Given the description of an element on the screen output the (x, y) to click on. 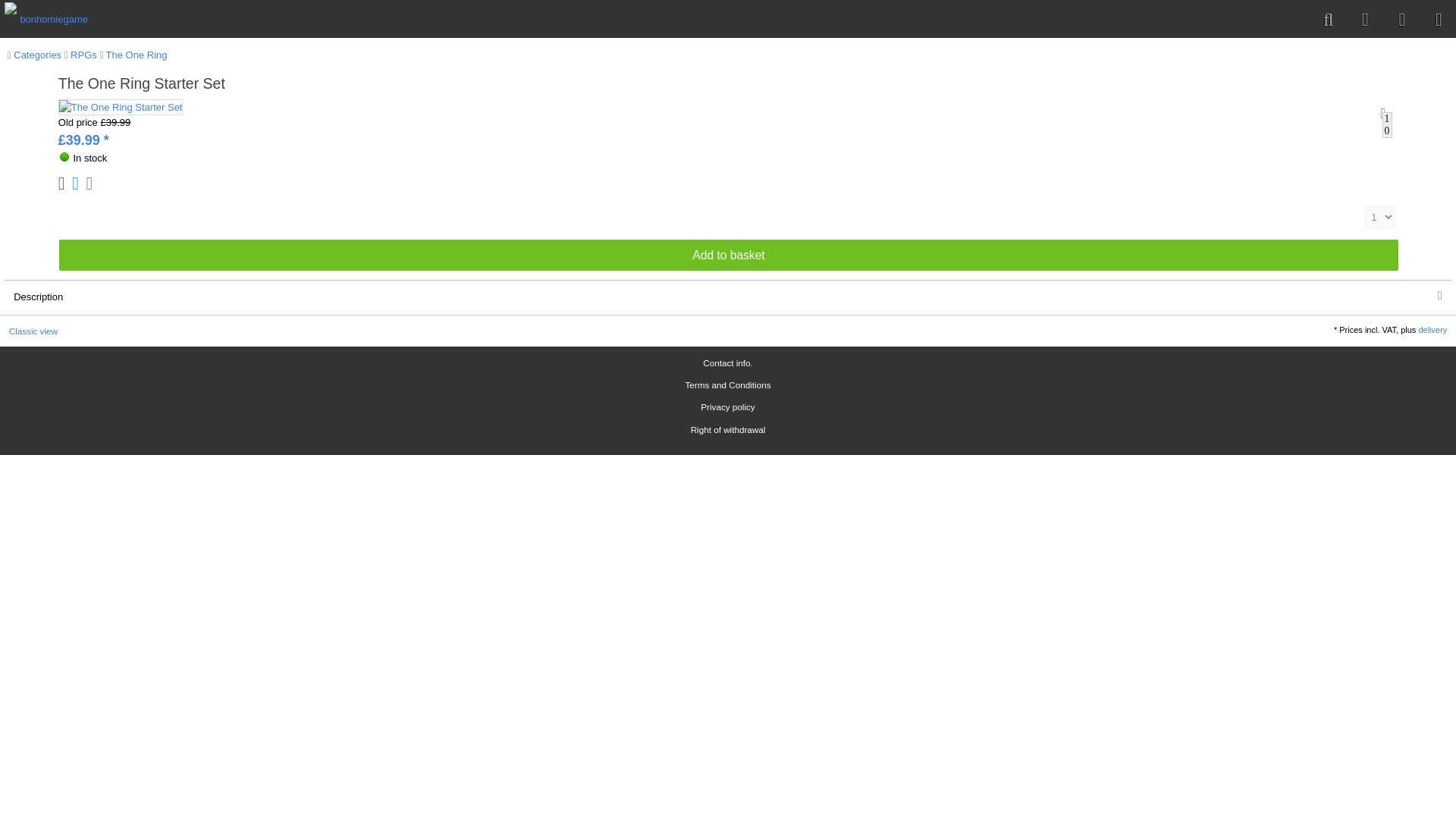
delivery (1432, 329)
Classic view (33, 330)
Add to basket (728, 255)
Add to basket (728, 255)
RPGs (80, 55)
The One Ring (133, 55)
